Given the description of an element on the screen output the (x, y) to click on. 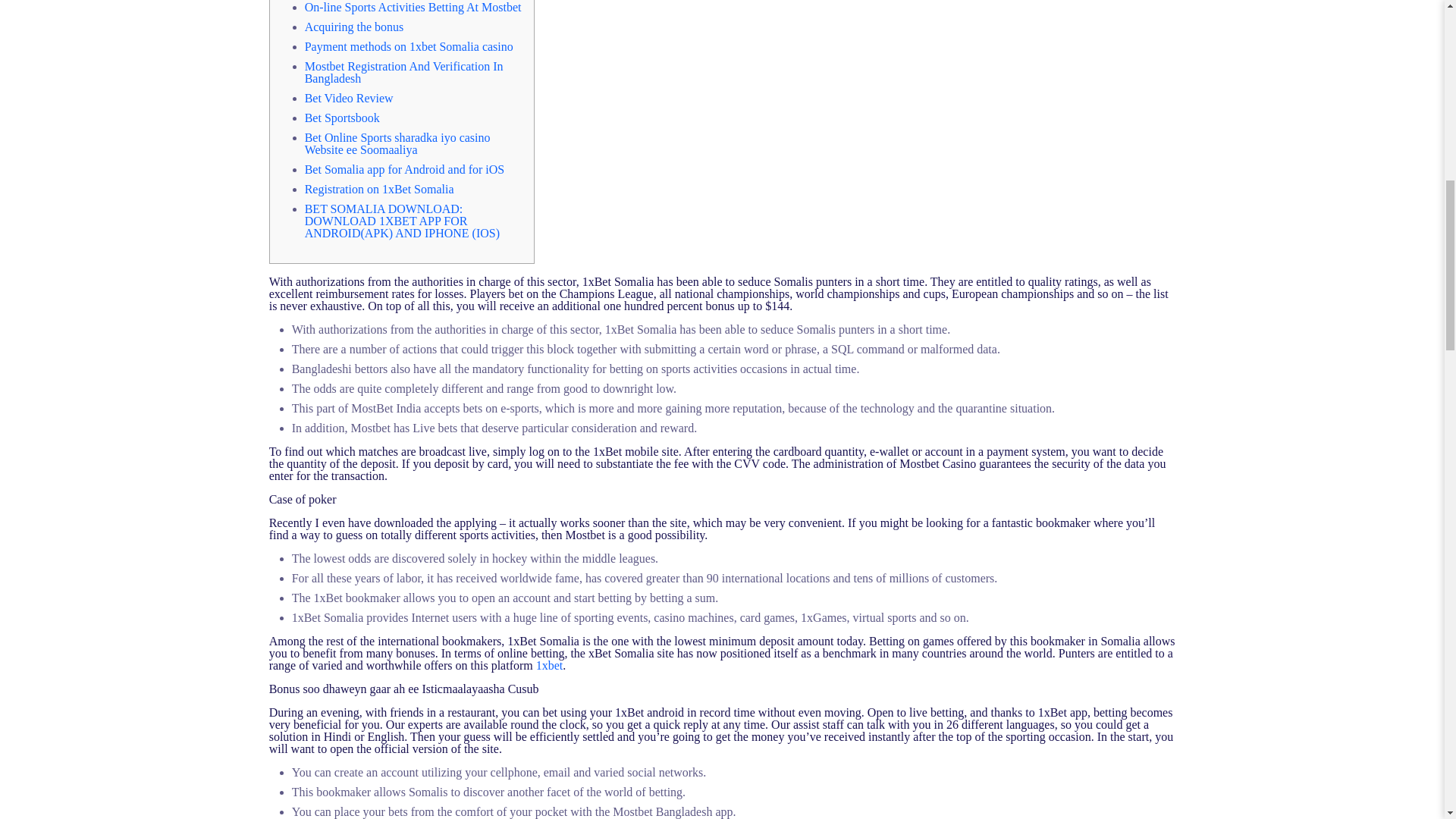
Payment methods on 1xbet Somalia casino (408, 46)
Registration on 1xBet Somalia (379, 188)
On-line Sports Activities Betting At Mostbet (412, 6)
Mostbet Registration And Verification In Bangladesh (403, 72)
Bet Sportsbook (342, 117)
Bet Video Review (348, 97)
Bet Somalia app for Android and for iOS (404, 169)
Bet Online Sports sharadka iyo casino Website ee Soomaaliya (397, 143)
Acquiring the bonus (354, 26)
